Given the description of an element on the screen output the (x, y) to click on. 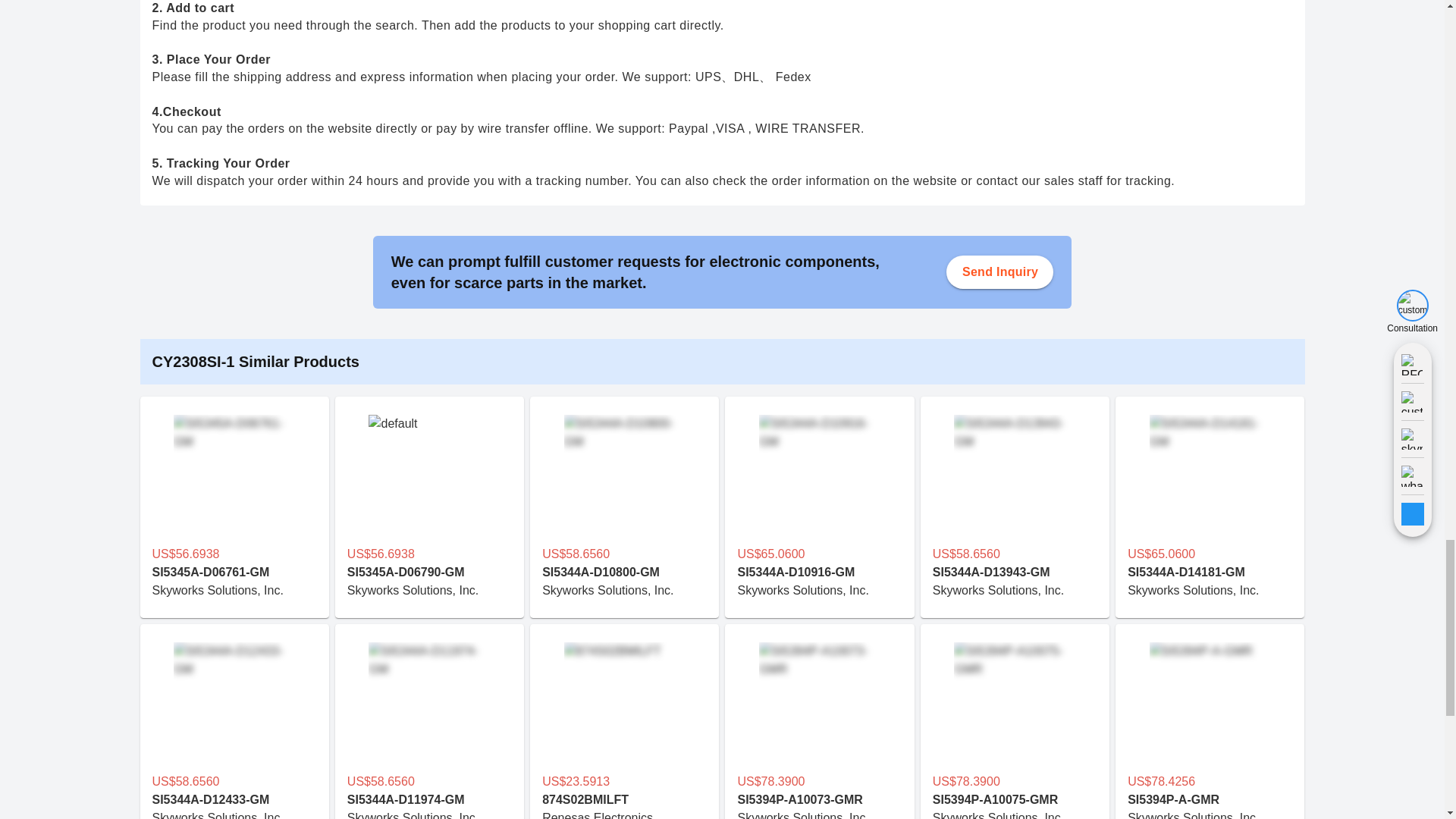
Skyworks Solutions, Inc. (818, 590)
Skyworks Solutions, Inc. (429, 590)
Skyworks Solutions, Inc. (233, 590)
Skyworks Solutions, Inc. (623, 590)
Skyworks Solutions, Inc. (1209, 590)
Skyworks Solutions, Inc. (1015, 590)
